Given the description of an element on the screen output the (x, y) to click on. 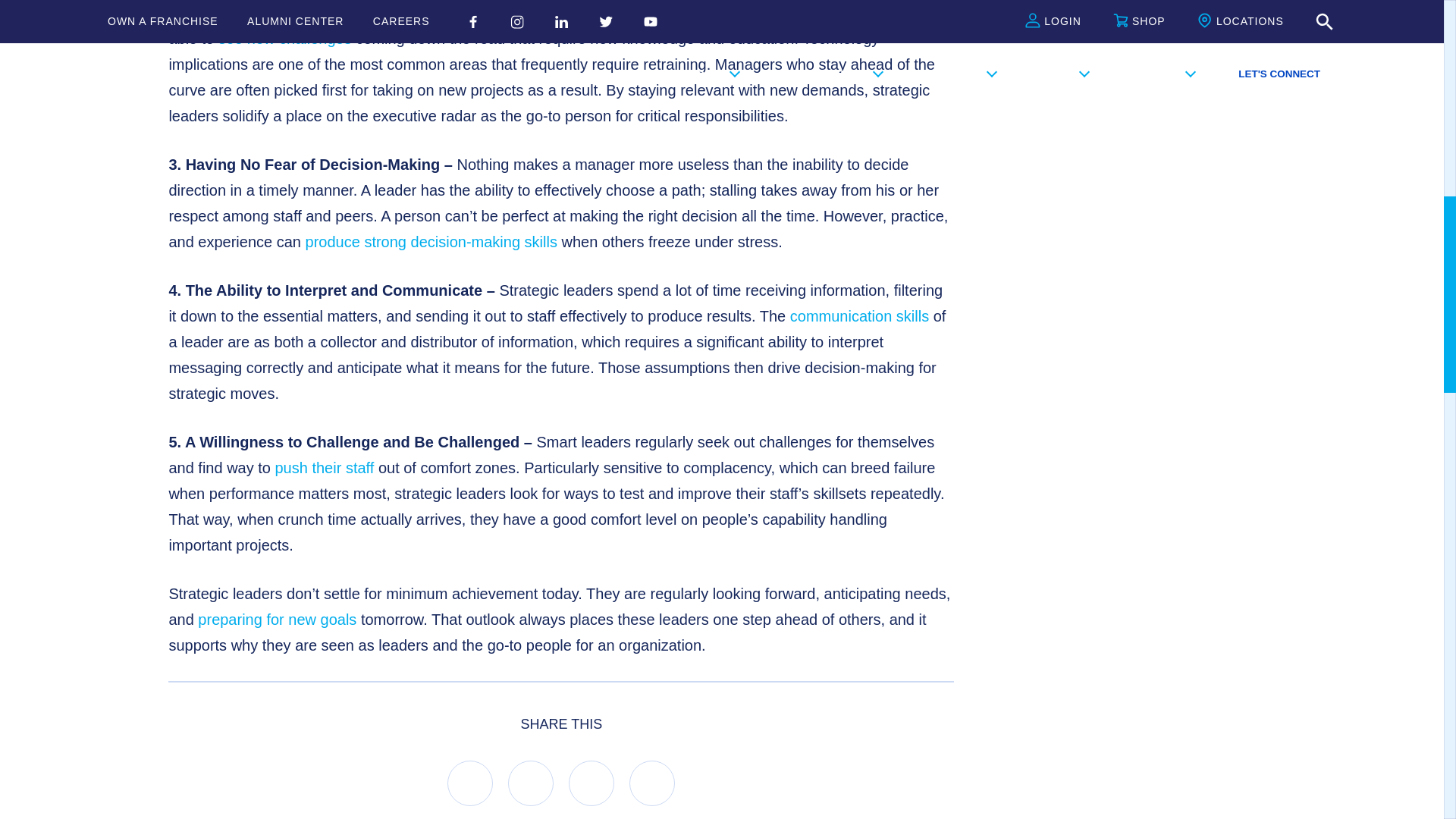
Email (651, 782)
LinkedIn (530, 782)
Facebook (469, 782)
Twitter (591, 782)
